Given the description of an element on the screen output the (x, y) to click on. 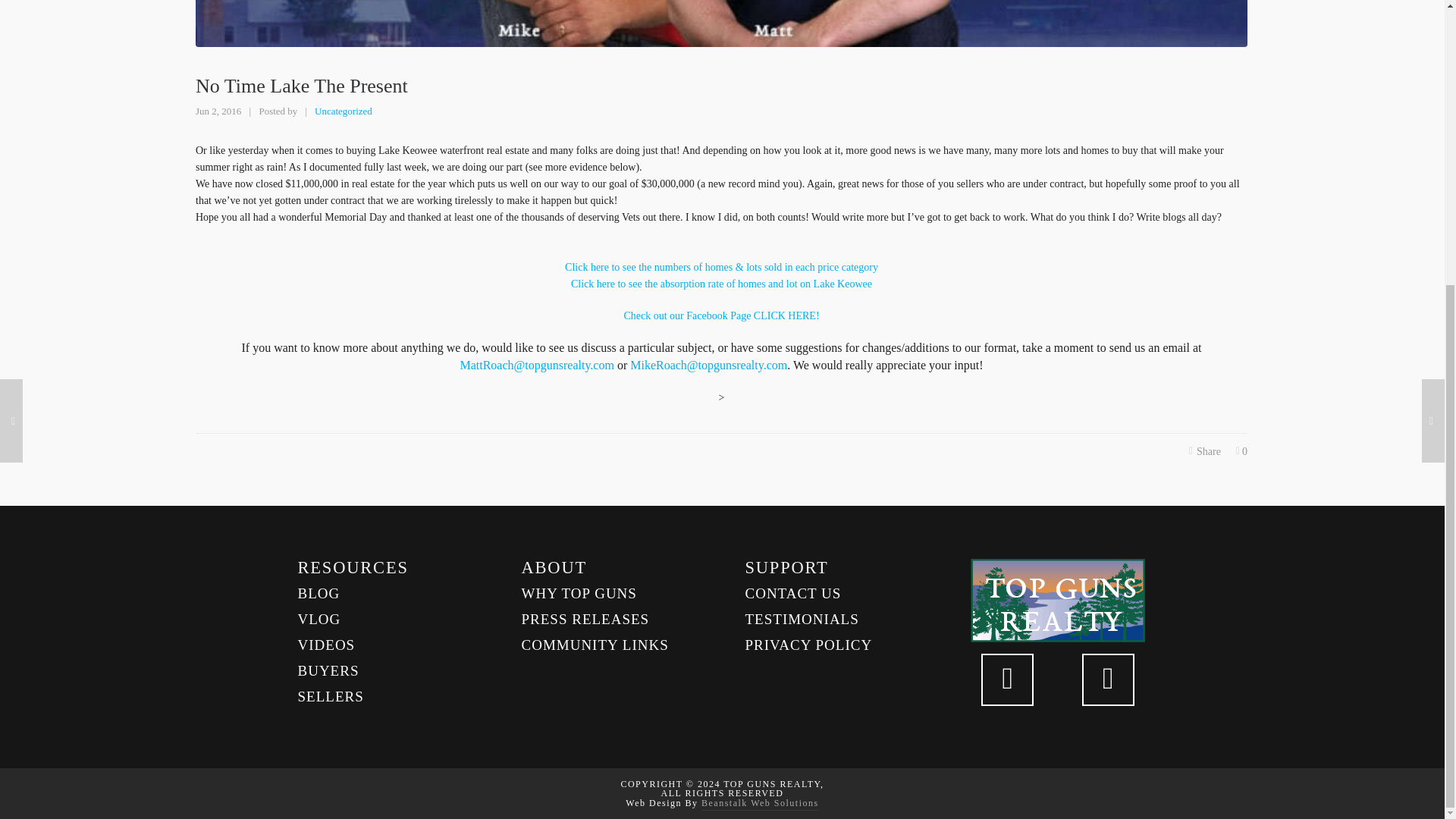
Lake Keowee Real Estate Numbers Roach (721, 283)
Lake Keowee Waterfront Real Estate Numbe (720, 266)
Lake Keowee Real Estate Reserve (720, 315)
View all posts in Uncategorized (343, 111)
No Time Lake The Present (721, 23)
